Given the description of an element on the screen output the (x, y) to click on. 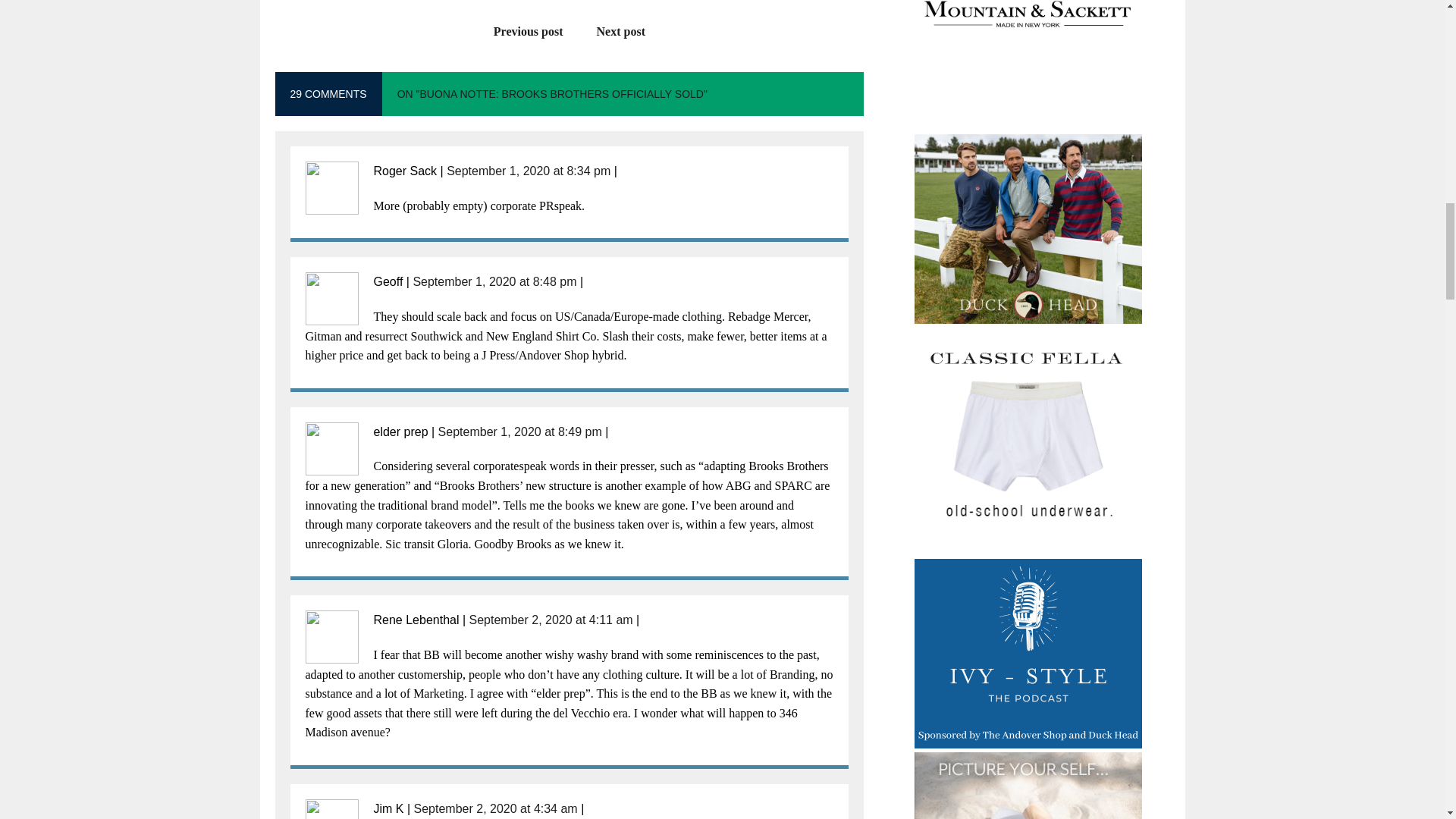
September 1, 2020 at 8:48 pm (494, 281)
September 1, 2020 at 8:49 pm (520, 431)
Next post (628, 31)
September 1, 2020 at 8:34 pm (528, 170)
September 2, 2020 at 4:34 am (495, 808)
September 2, 2020 at 4:11 am (550, 619)
Previous post (521, 31)
